Given the description of an element on the screen output the (x, y) to click on. 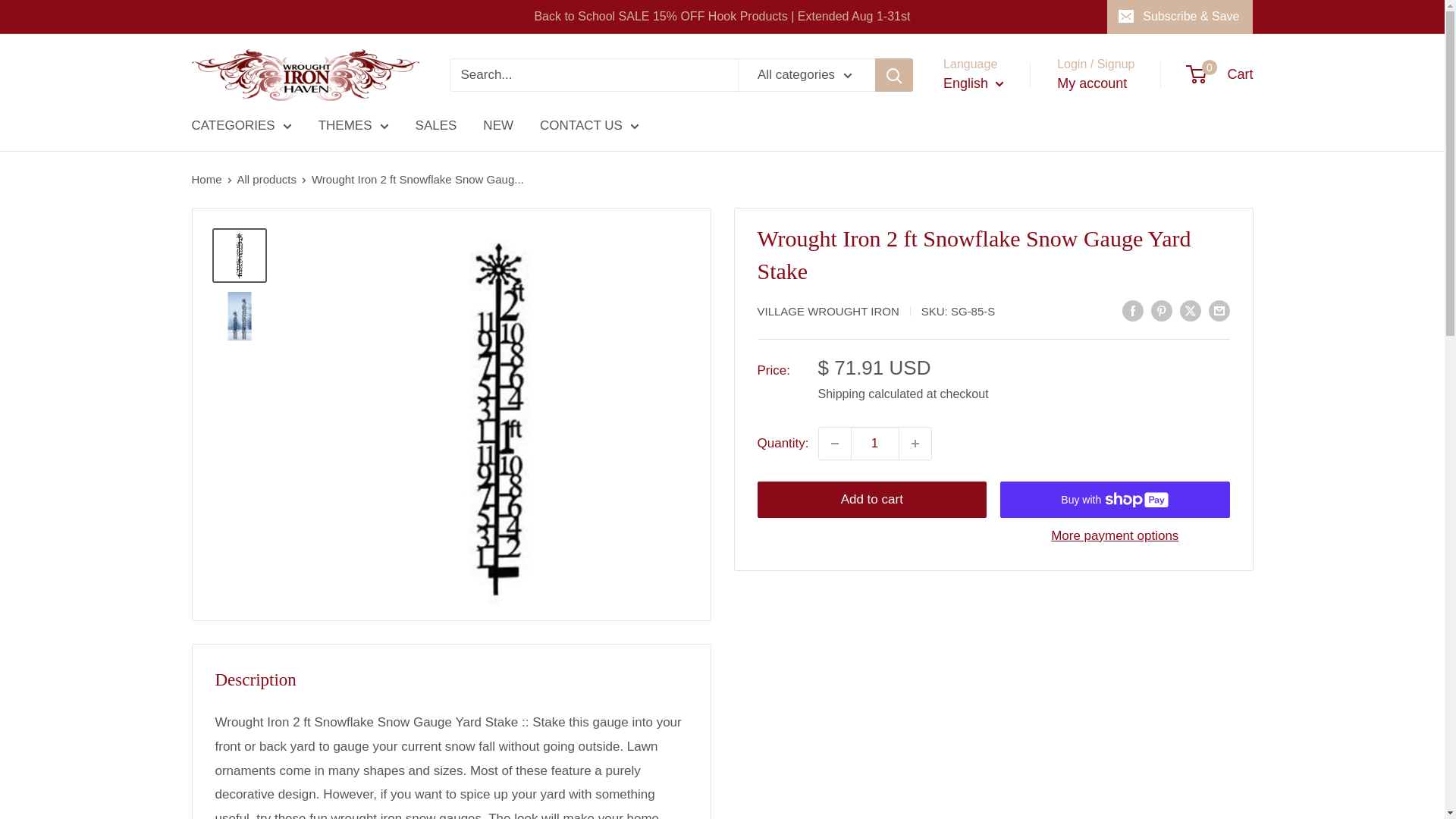
Decrease quantity by 1 (834, 443)
Increase quantity by 1 (915, 443)
1 (874, 443)
